Given the description of an element on the screen output the (x, y) to click on. 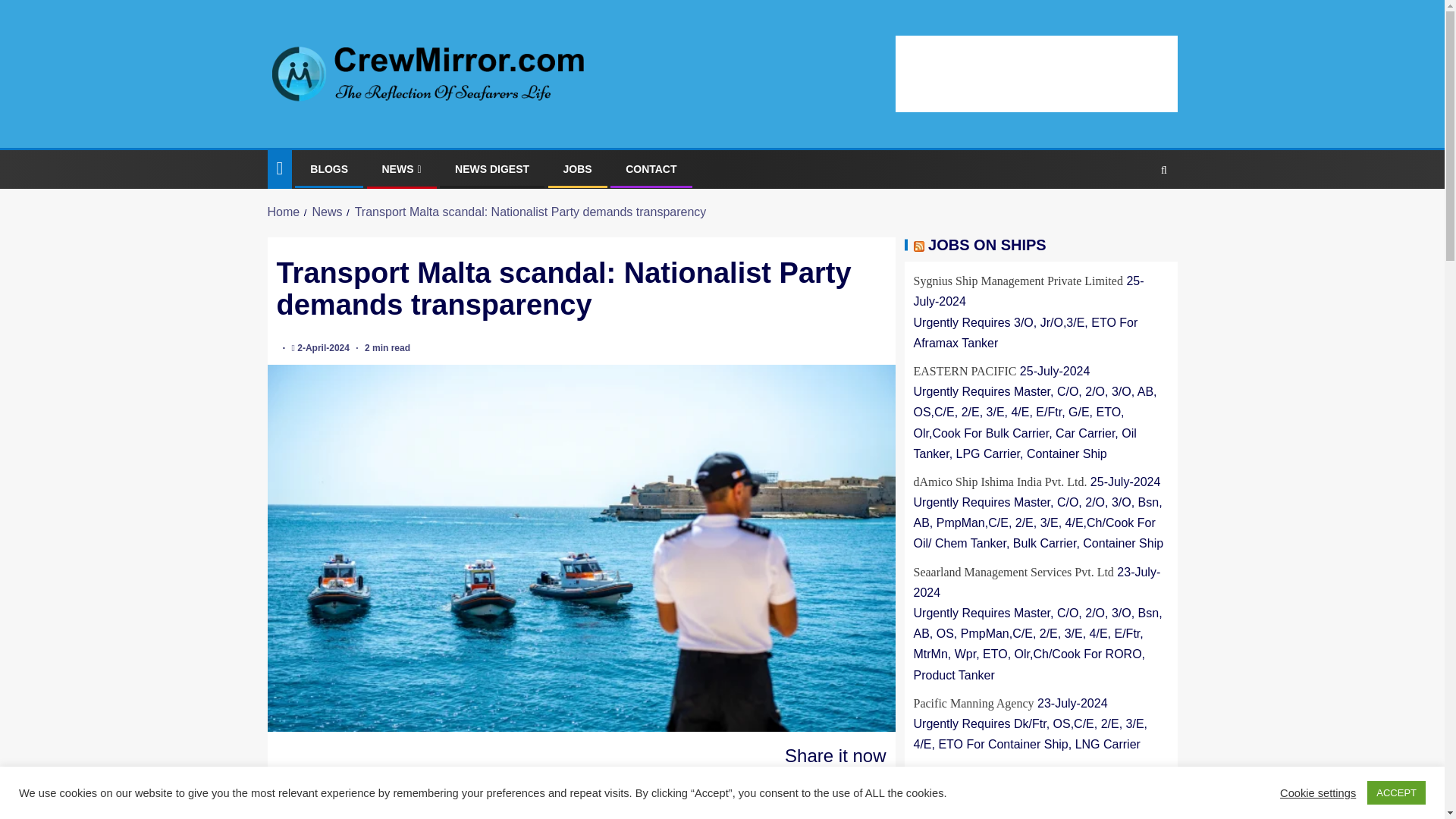
News Digest (491, 168)
BLOGS (328, 168)
Jobs (577, 168)
Home (282, 211)
NEWS (401, 168)
JOBS (577, 168)
CONTACT (651, 168)
News (326, 211)
Blogs (328, 168)
Advertisement (1035, 70)
NEWS DIGEST (491, 168)
News (401, 168)
Search (1133, 215)
